Given the description of an element on the screen output the (x, y) to click on. 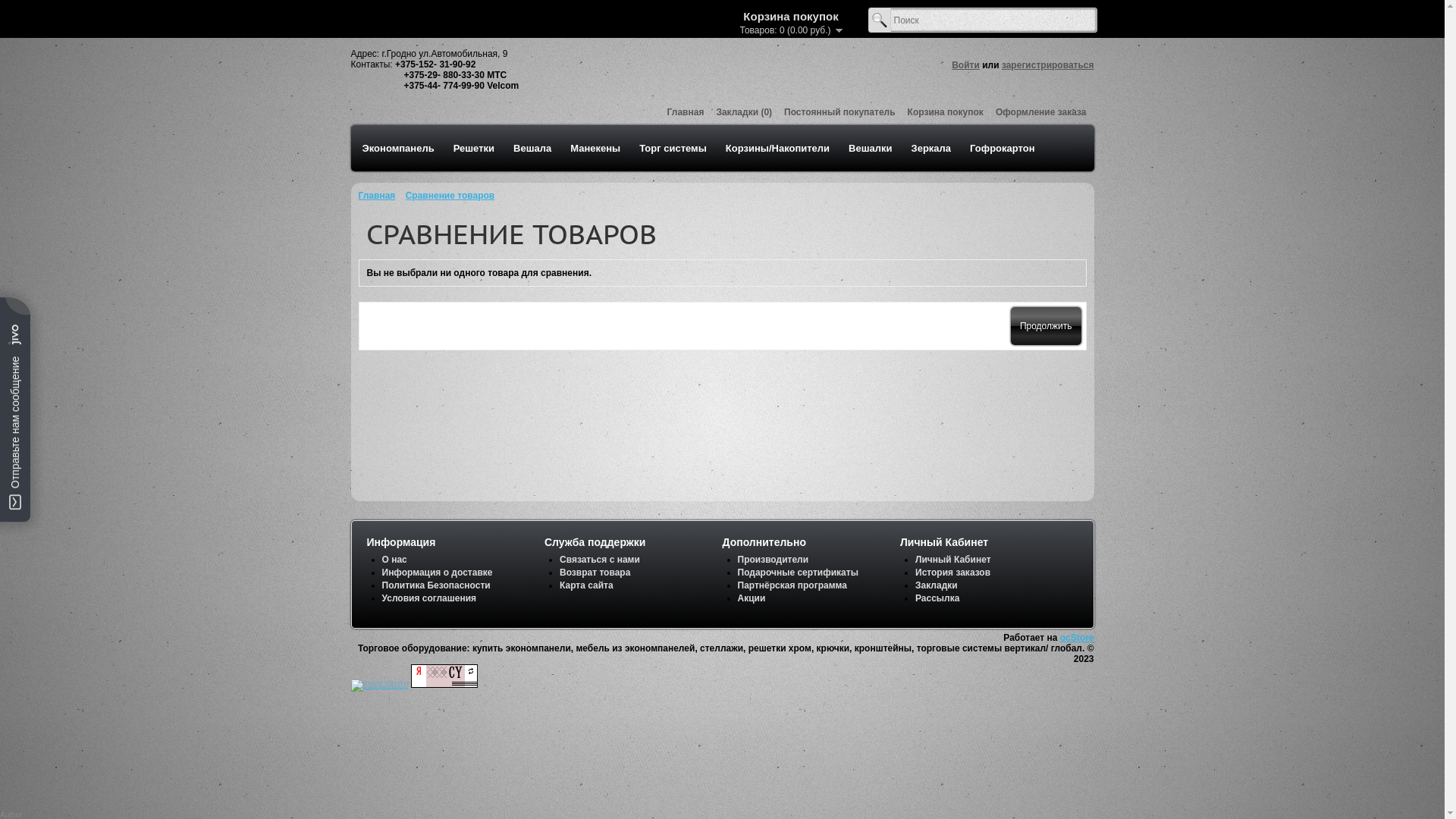
ocStore Element type: text (1077, 637)
